Given the description of an element on the screen output the (x, y) to click on. 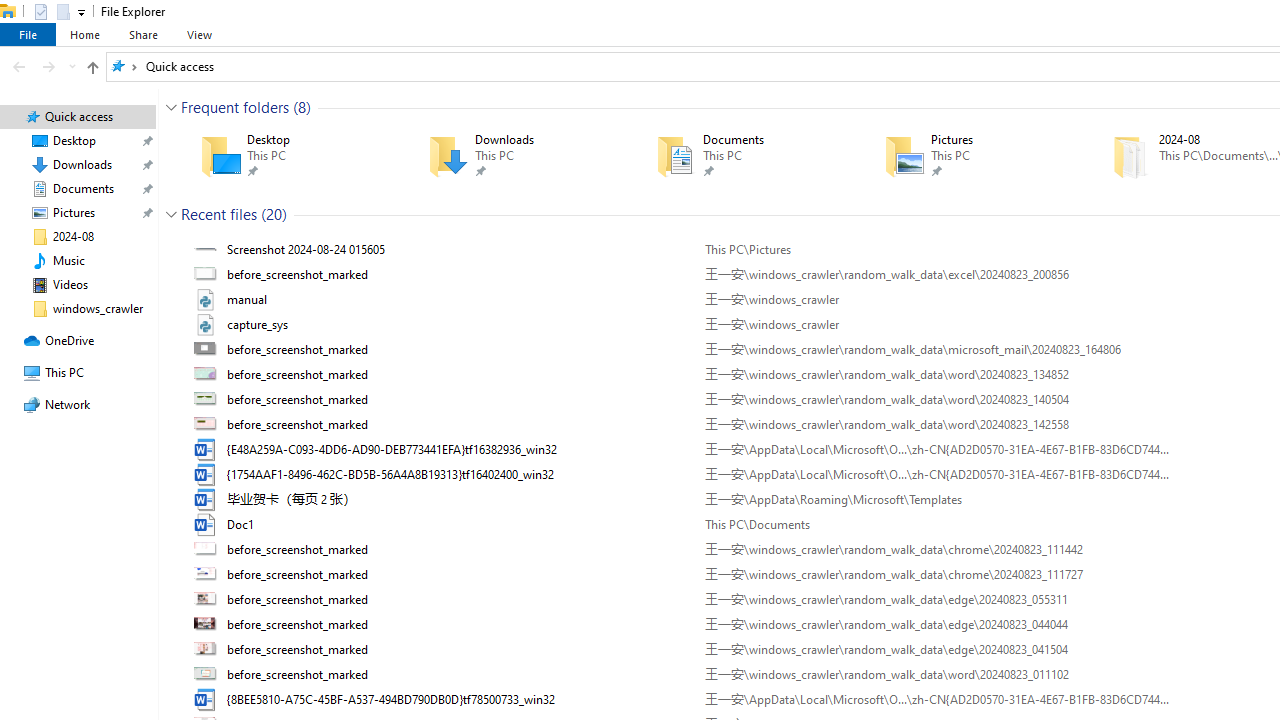
File tab (28, 34)
Up band toolbar (92, 70)
Collapse Group (171, 213)
System (10, 11)
Up to "Desktop" (Alt + Up Arrow) (92, 67)
Quick Access Toolbar (51, 11)
Share (143, 34)
Customize Quick Access Toolbar (81, 11)
Documents (741, 156)
Path (936, 699)
Quick access (179, 65)
Forward (Alt + Right Arrow) (49, 66)
Downloads (513, 156)
System (10, 11)
Count (273, 213)
